Given the description of an element on the screen output the (x, y) to click on. 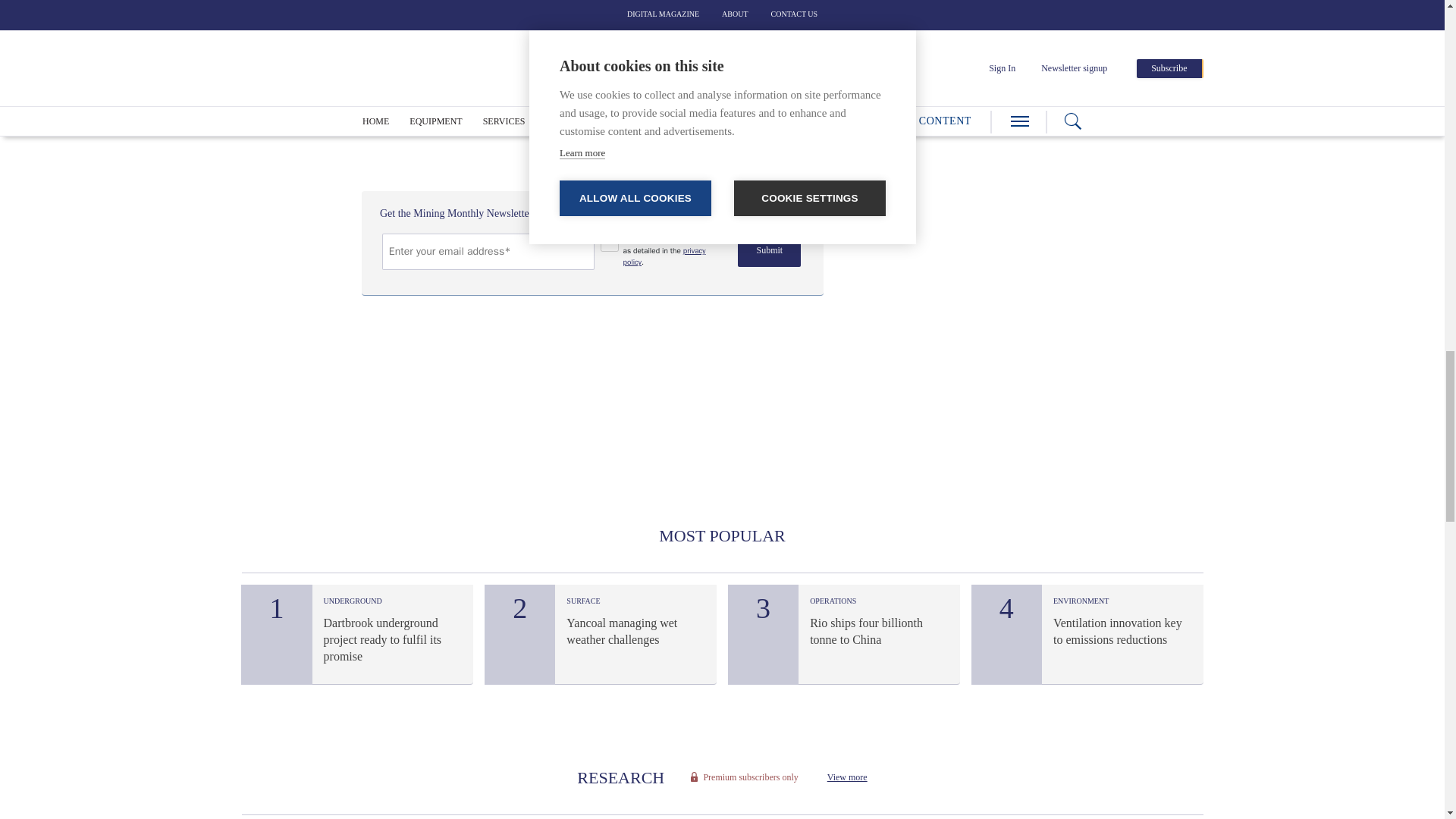
Submit (769, 249)
true (608, 242)
